Given the description of an element on the screen output the (x, y) to click on. 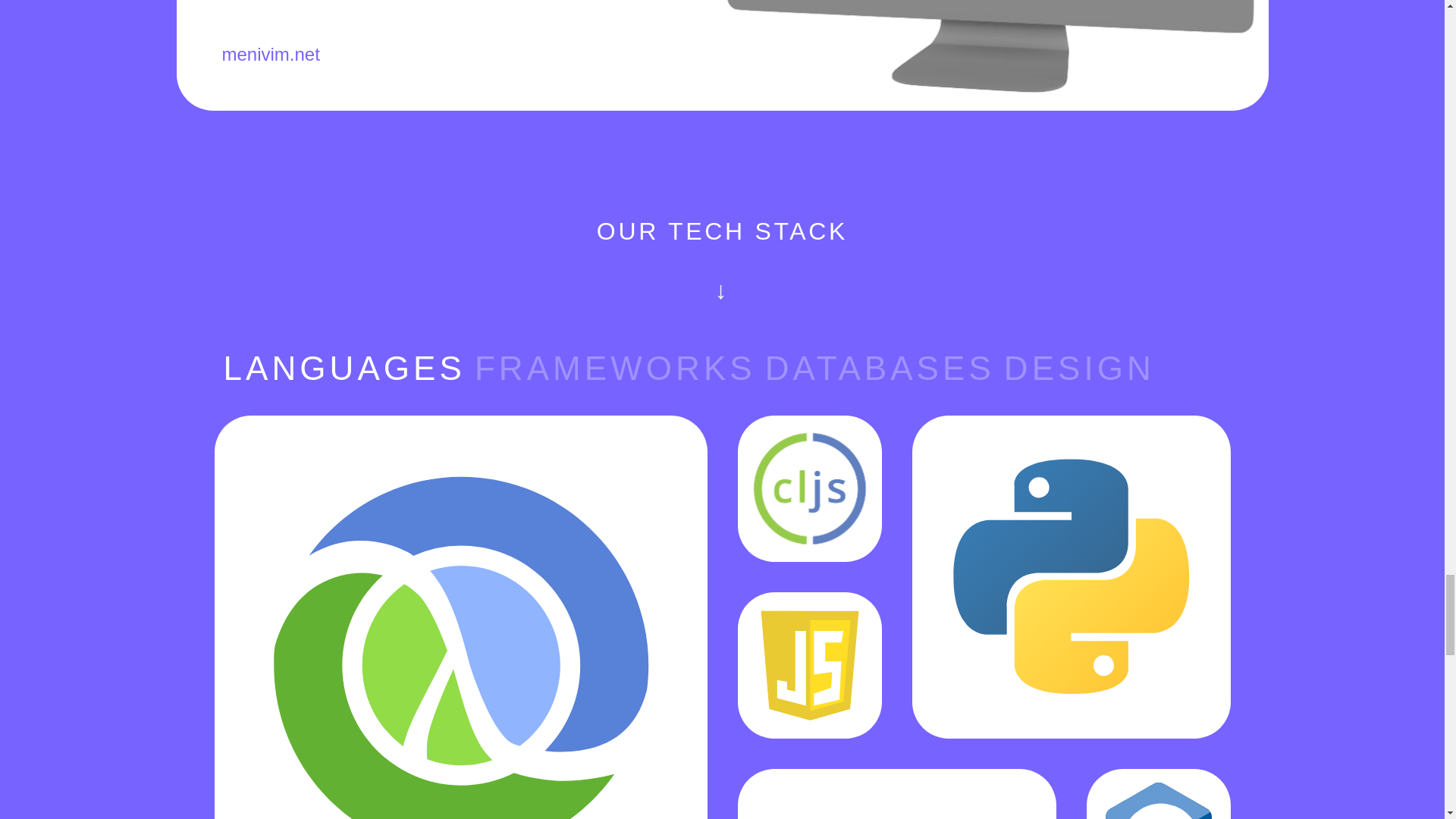
menivim.net (269, 54)
